Given the description of an element on the screen output the (x, y) to click on. 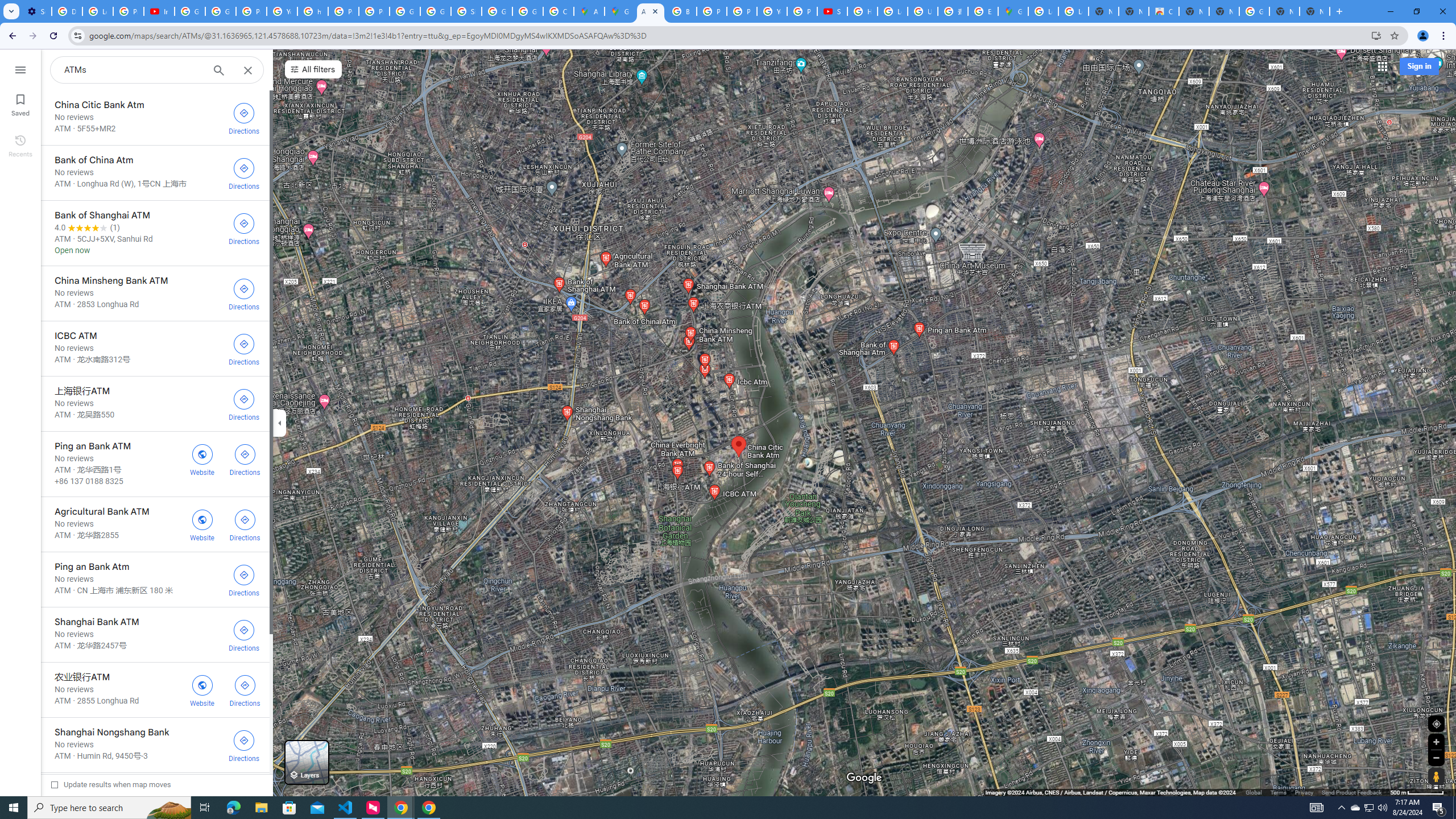
How Chrome protects your passwords - Google Chrome Help (862, 11)
Privacy Help Center - Policies Help (343, 11)
ATMs - Google Maps (650, 11)
Get directions to Bank of Shanghai ATM (243, 227)
Chrome Web Store (1163, 11)
Bank of Shanghai ATM (154, 232)
Layers (306, 762)
Get directions to China Citic Bank Atm (243, 117)
Zoom out (1436, 757)
Bank of China Atm (154, 172)
